Given the description of an element on the screen output the (x, y) to click on. 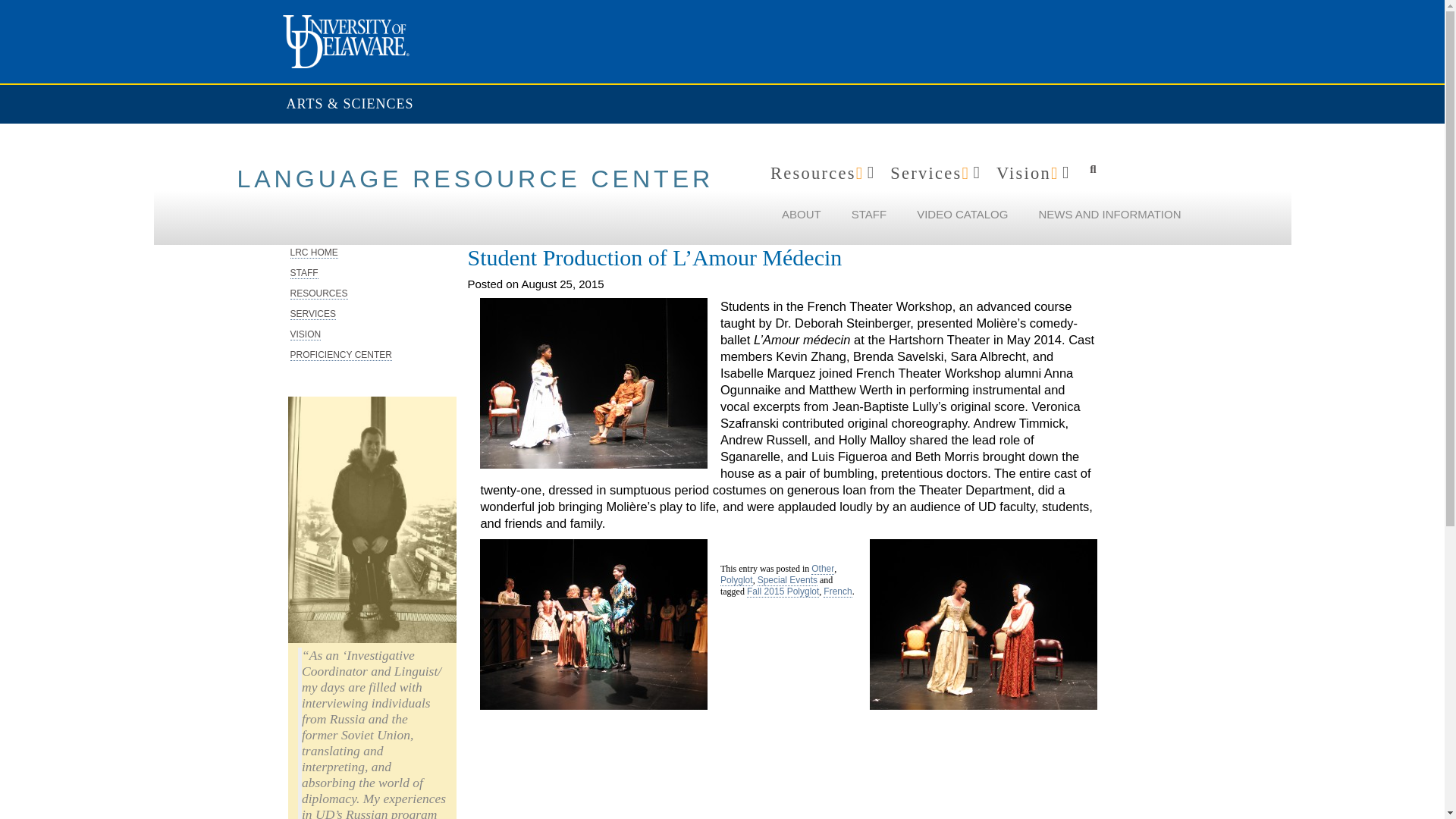
LANGUAGE RESOURCE CENTER (474, 178)
VISION (304, 334)
NEWS AND INFORMATION (1116, 214)
Services (937, 172)
RESOURCES (318, 293)
PROFICIENCY CENTER (340, 355)
SERVICES (311, 314)
Vision (1035, 172)
ABOUT (808, 214)
VIDEO CATALOG (970, 214)
STAFF (876, 214)
STAFF (303, 273)
Resources (824, 172)
LRC HOME (313, 252)
